Given the description of an element on the screen output the (x, y) to click on. 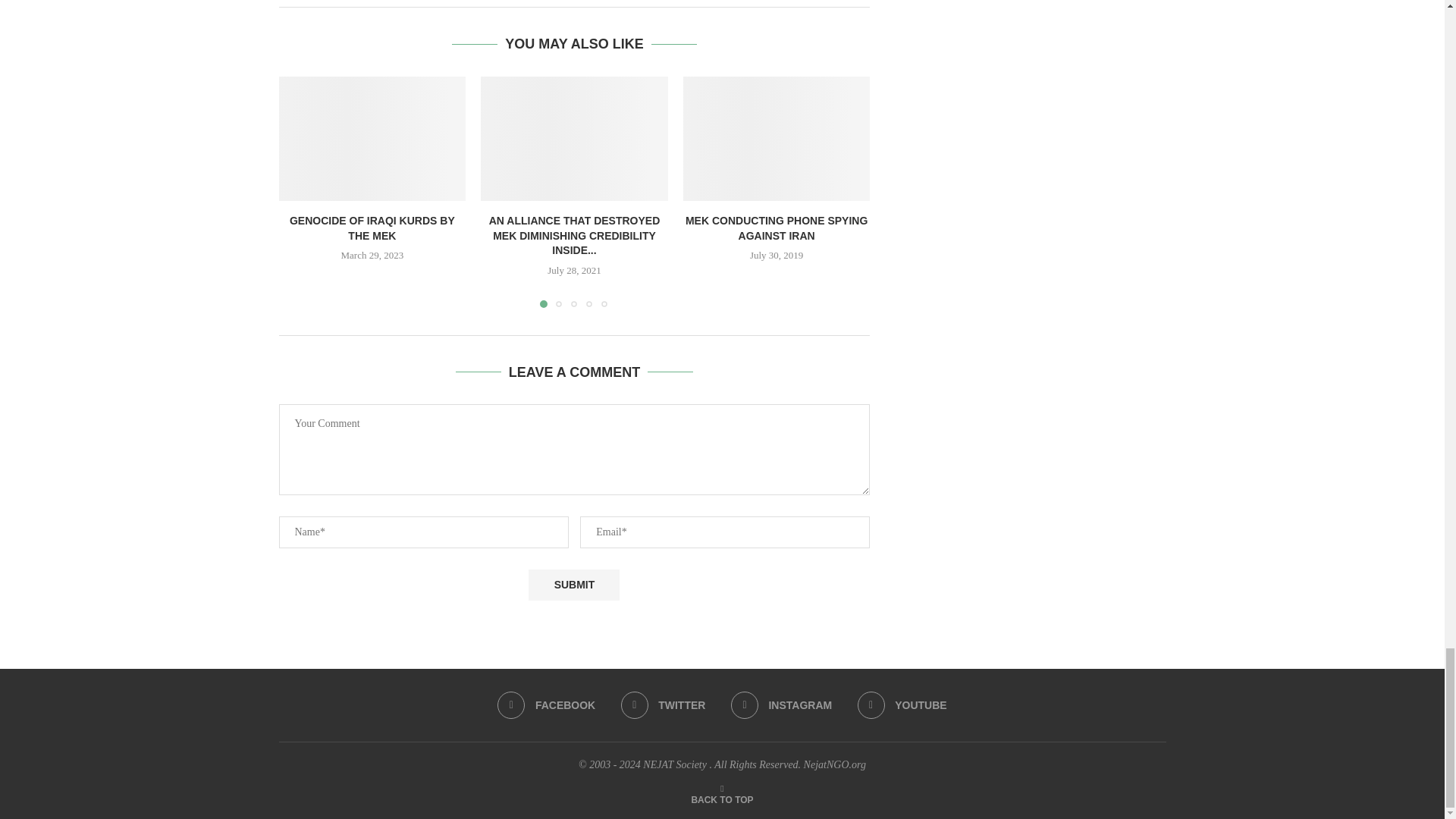
Submit (574, 584)
MEK conducting phone spying against Iran (776, 138)
Genocide of Iraqi Kurds by the MEK (372, 138)
